Given the description of an element on the screen output the (x, y) to click on. 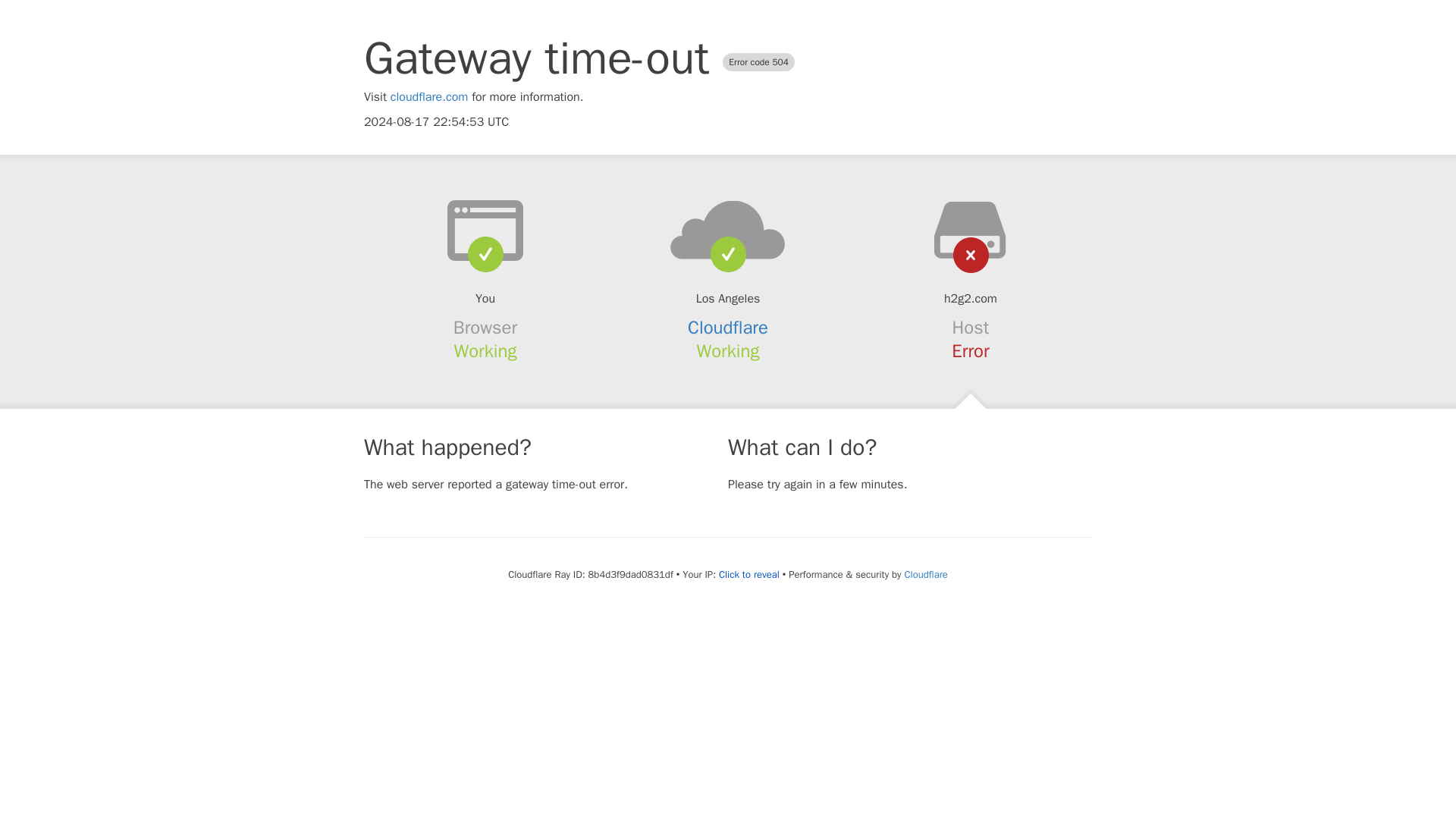
cloudflare.com (429, 96)
Cloudflare (925, 574)
Click to reveal (748, 574)
Cloudflare (727, 327)
